Given the description of an element on the screen output the (x, y) to click on. 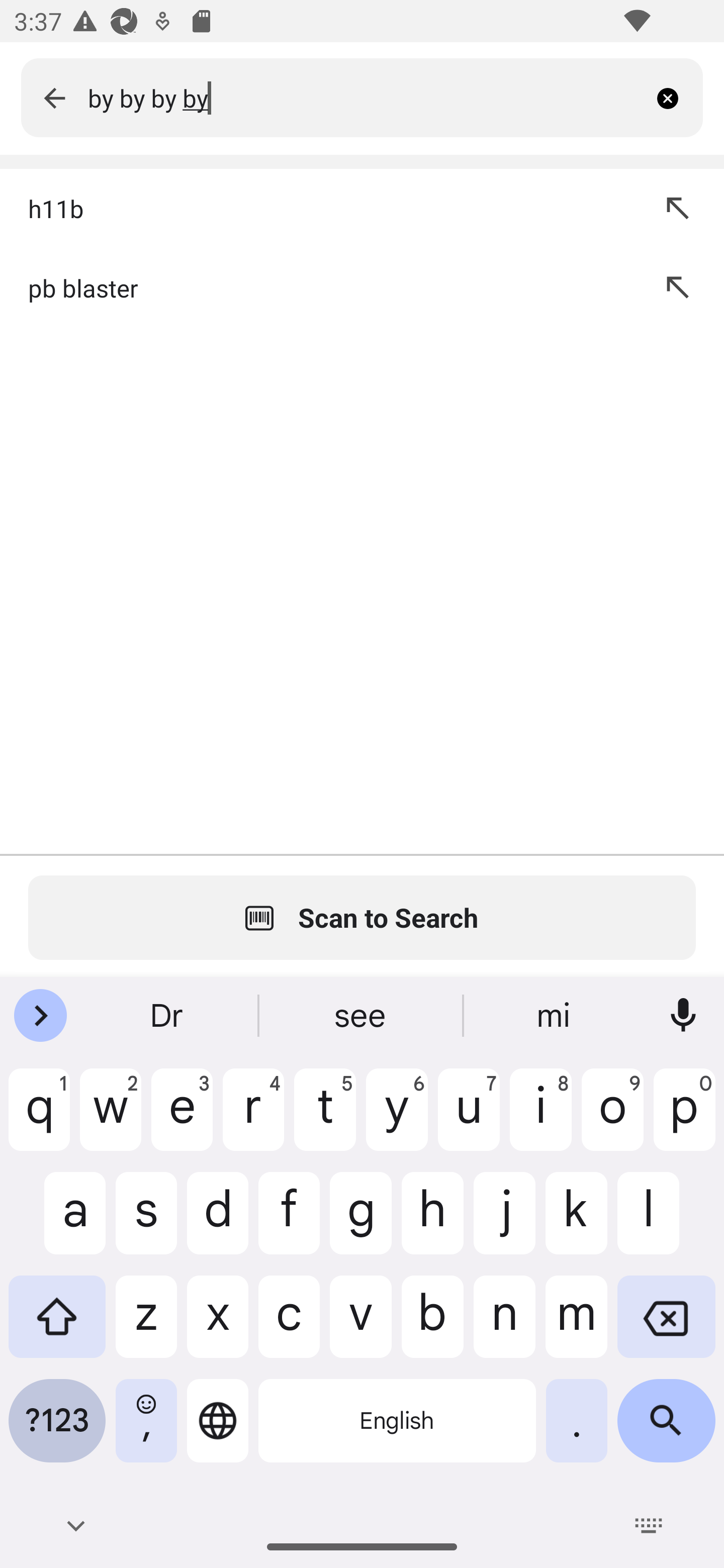
 (54, 97)
by by by by Text input field (367, 97)
Clear search bar text  (674, 97)
h11b (322, 208)
pb blaster (322, 287)
